Given the description of an element on the screen output the (x, y) to click on. 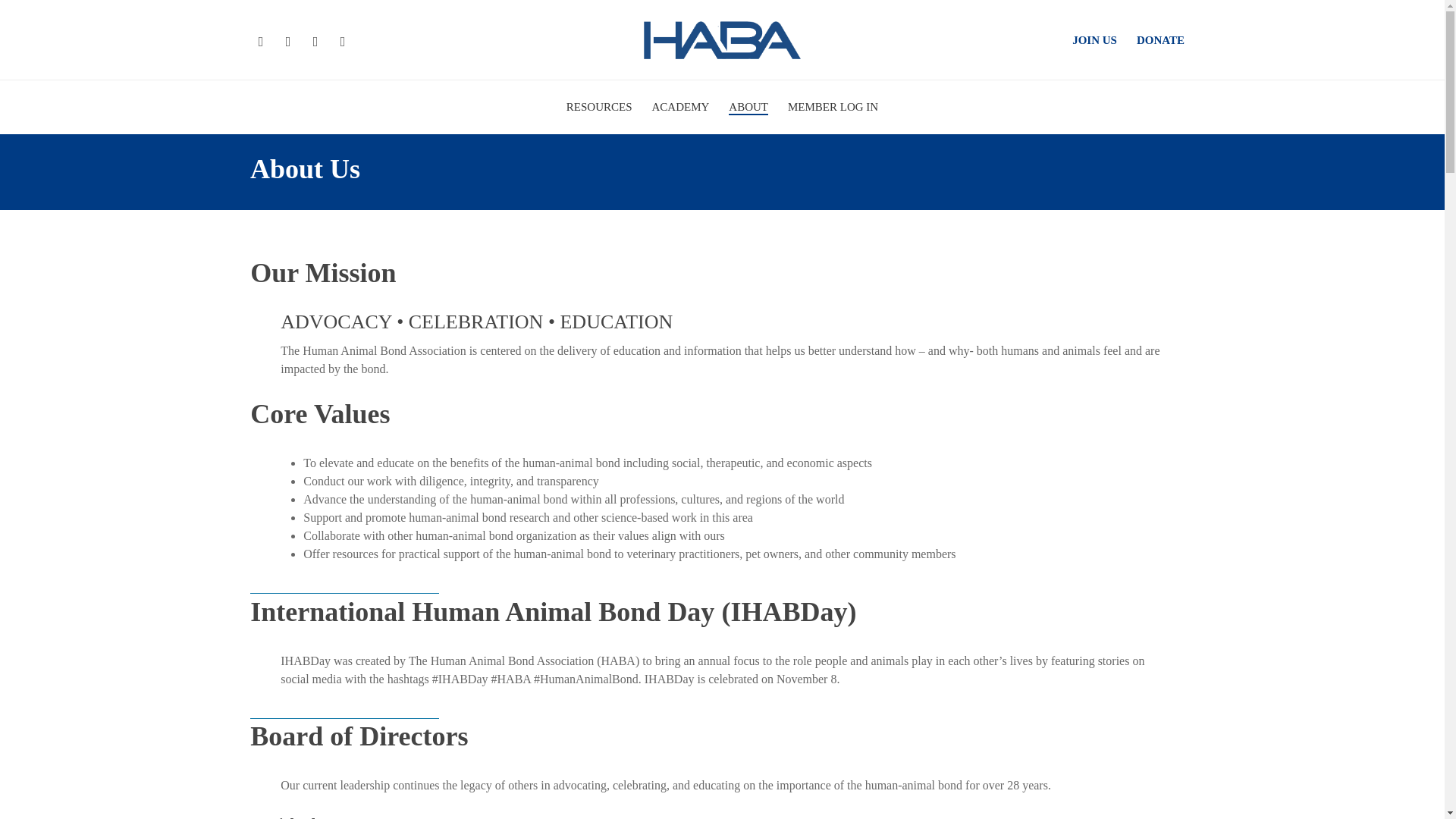
ACADEMY (681, 117)
MEMBER LOG IN (832, 117)
DONATE (1161, 40)
YOUTUBE (315, 40)
RESOURCES (598, 117)
JOIN US (1093, 40)
LINKEDIN (288, 40)
ABOUT (748, 117)
FACEBOOK (261, 40)
INSTAGRAM (342, 40)
